Given the description of an element on the screen output the (x, y) to click on. 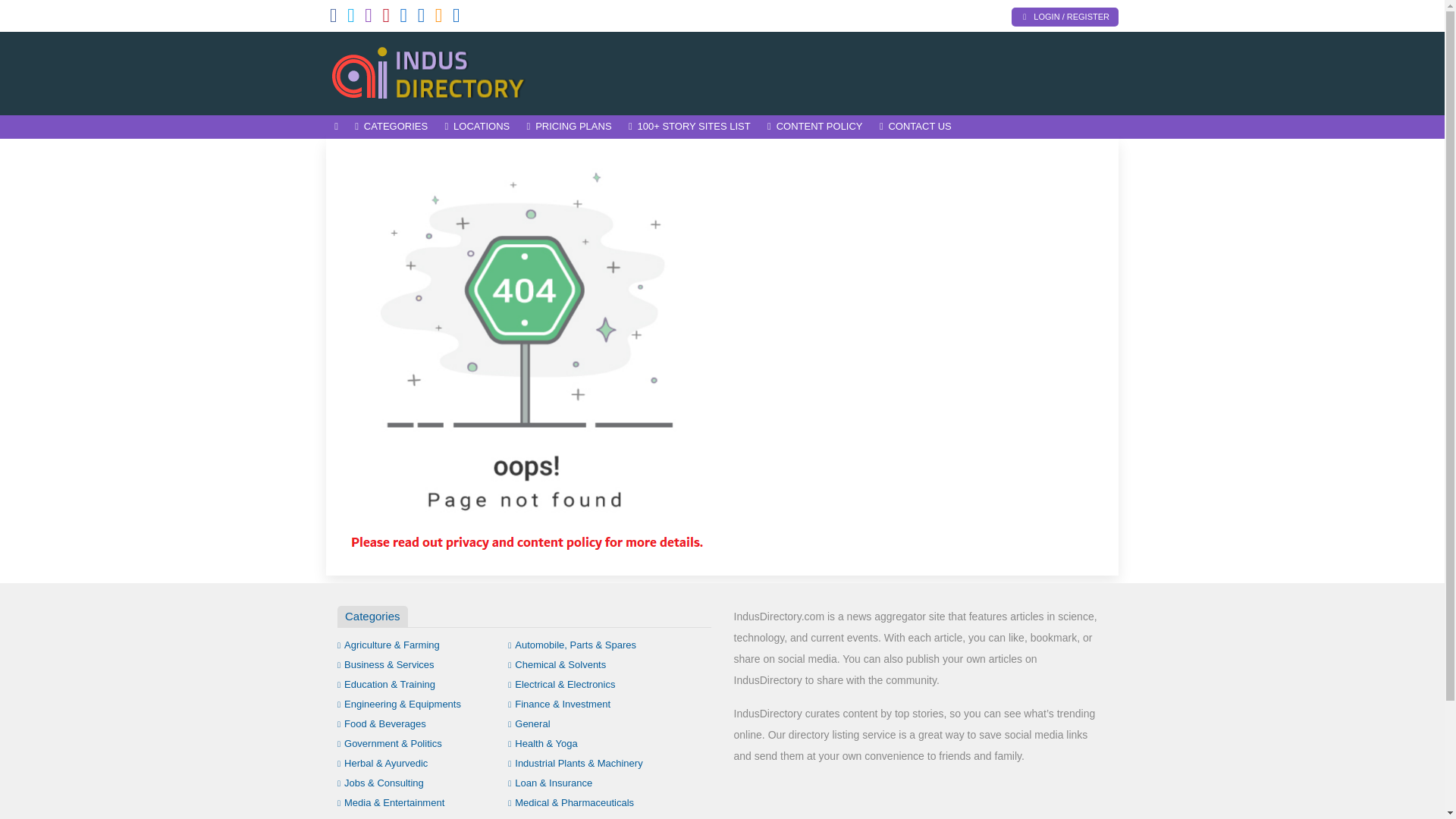
General (529, 723)
CONTACT US (914, 126)
PRICING PLANS (569, 126)
CONTENT POLICY (814, 126)
LOCATIONS (476, 126)
CATEGORIES (390, 126)
